Given the description of an element on the screen output the (x, y) to click on. 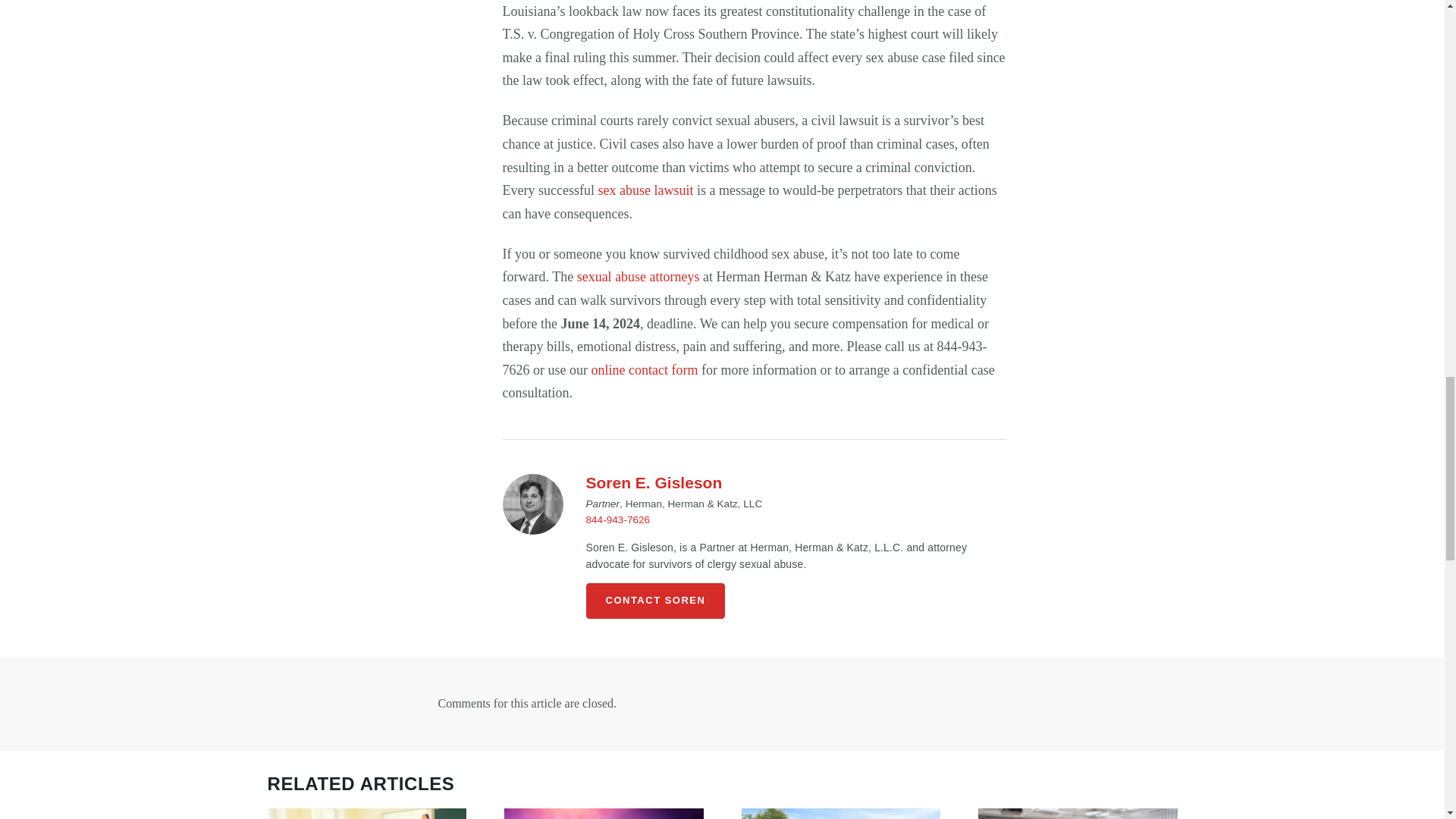
online contact form (644, 369)
844-943-7626 (617, 519)
Soren E. Gisleson (532, 504)
Hip Hop Music Mogul Irv Gotti Faces Sexual Assault Lawsuit (603, 813)
sex abuse lawsuit (644, 190)
Soren E. Gisleson (653, 482)
sexual abuse attorneys (638, 276)
